Given the description of an element on the screen output the (x, y) to click on. 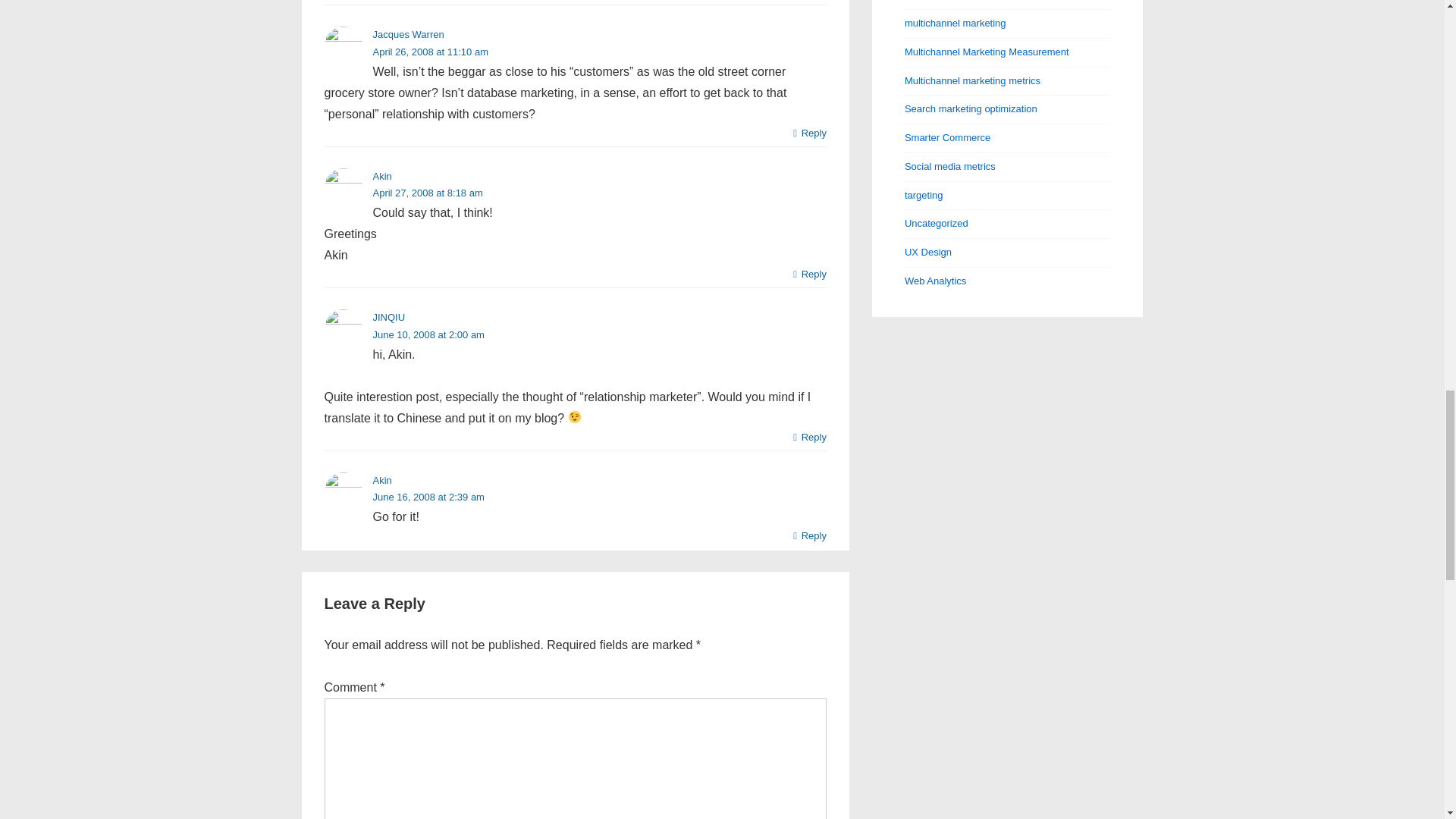
June 10, 2008 at 2:00 am (428, 334)
Reply (810, 274)
Jacques Warren (408, 34)
JINQIU (389, 317)
June 16, 2008 at 2:39 am (428, 496)
April 26, 2008 at 11:10 am (430, 51)
Akin (381, 480)
Reply (810, 437)
Reply (810, 536)
April 27, 2008 at 8:18 am (427, 193)
Akin (381, 174)
Reply (810, 132)
